Given the description of an element on the screen output the (x, y) to click on. 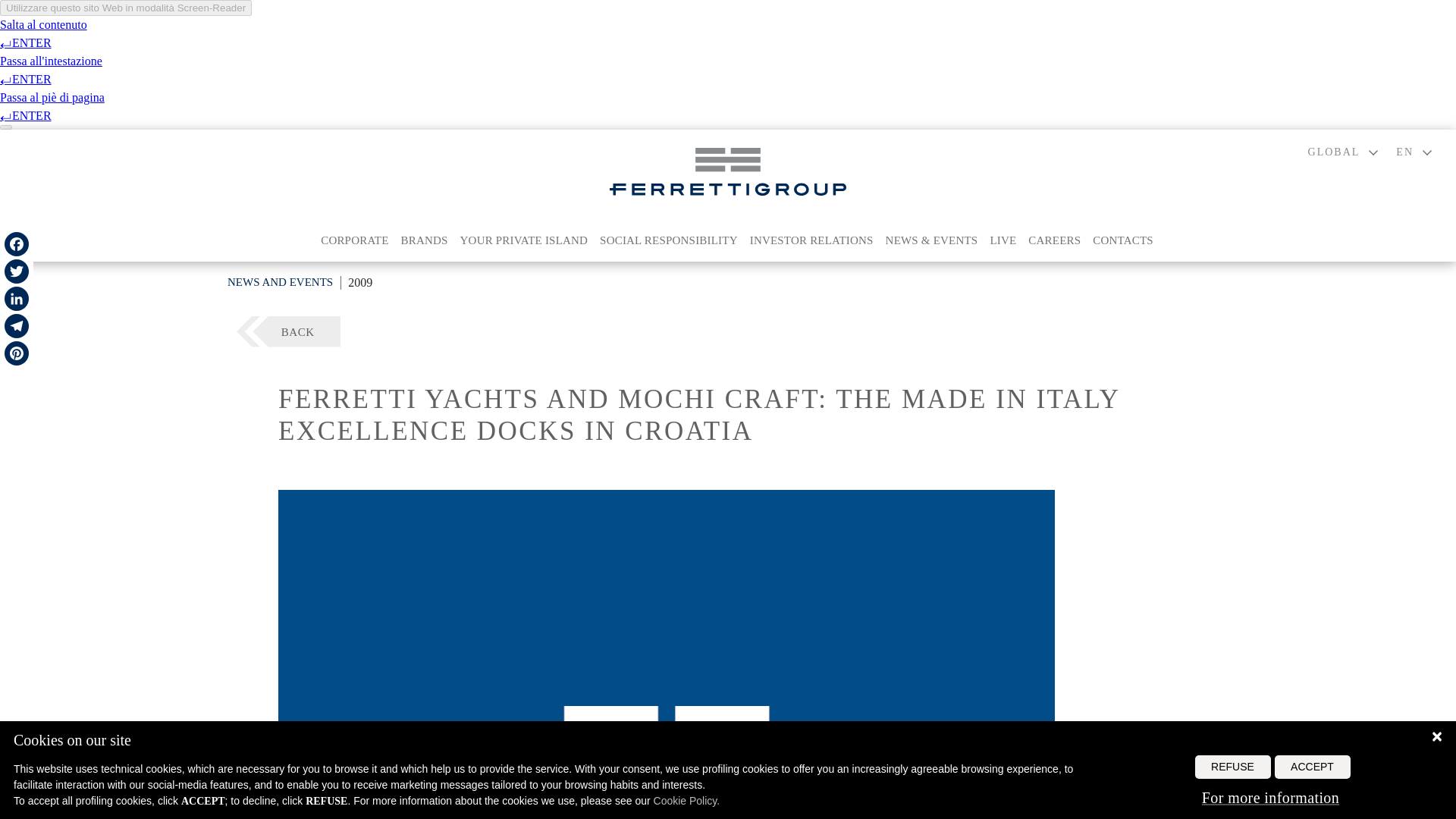
EN (1413, 151)
CORPORATE (354, 240)
GLOBAL (1342, 151)
